Given the description of an element on the screen output the (x, y) to click on. 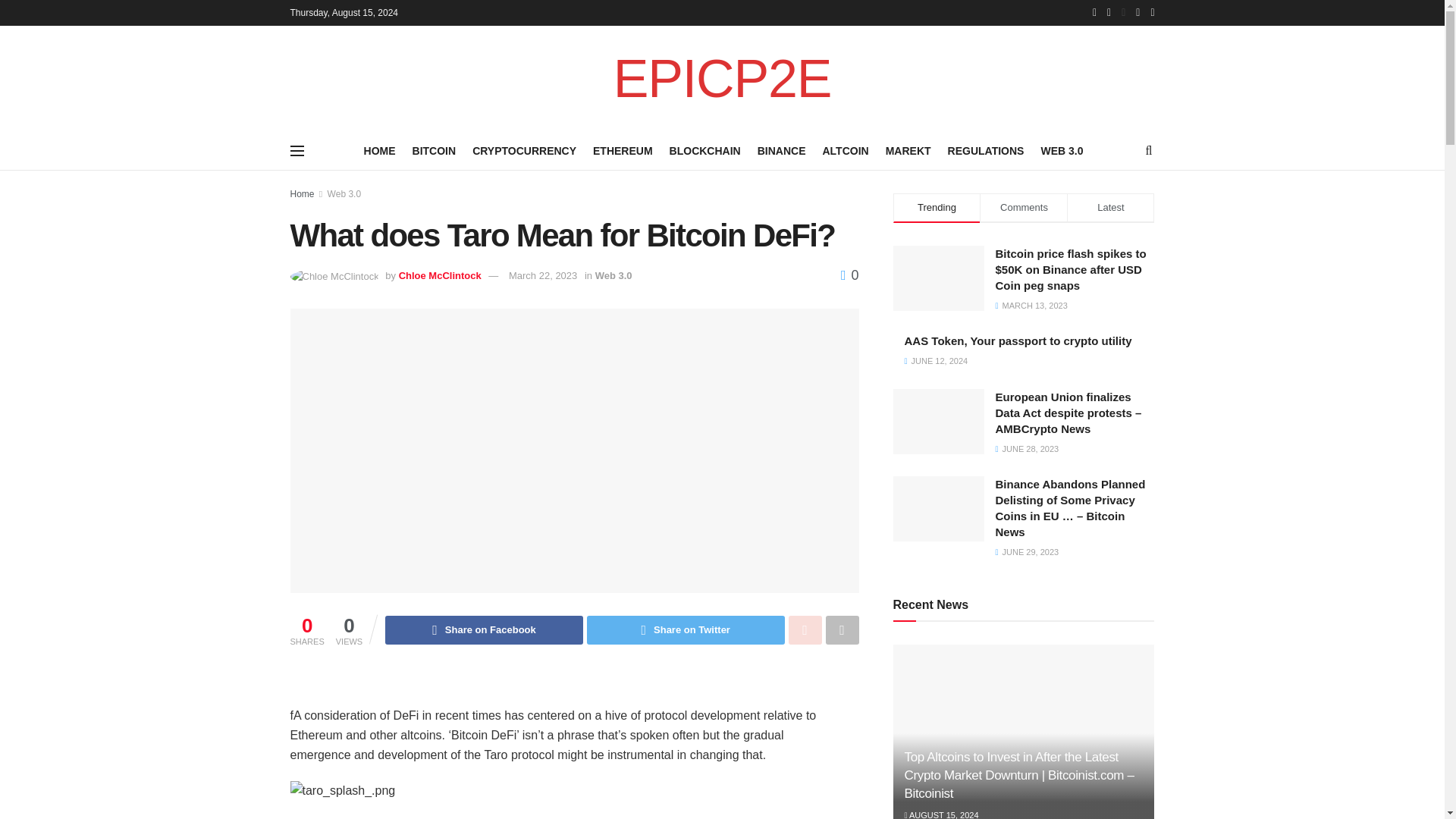
Home (301, 194)
MAREKT (908, 150)
EPICP2E (721, 78)
0 (850, 274)
March 22, 2023 (542, 275)
BINANCE (781, 150)
CRYPTOCURRENCY (523, 150)
BLOCKCHAIN (705, 150)
Web 3.0 (613, 275)
HOME (380, 150)
